Given the description of an element on the screen output the (x, y) to click on. 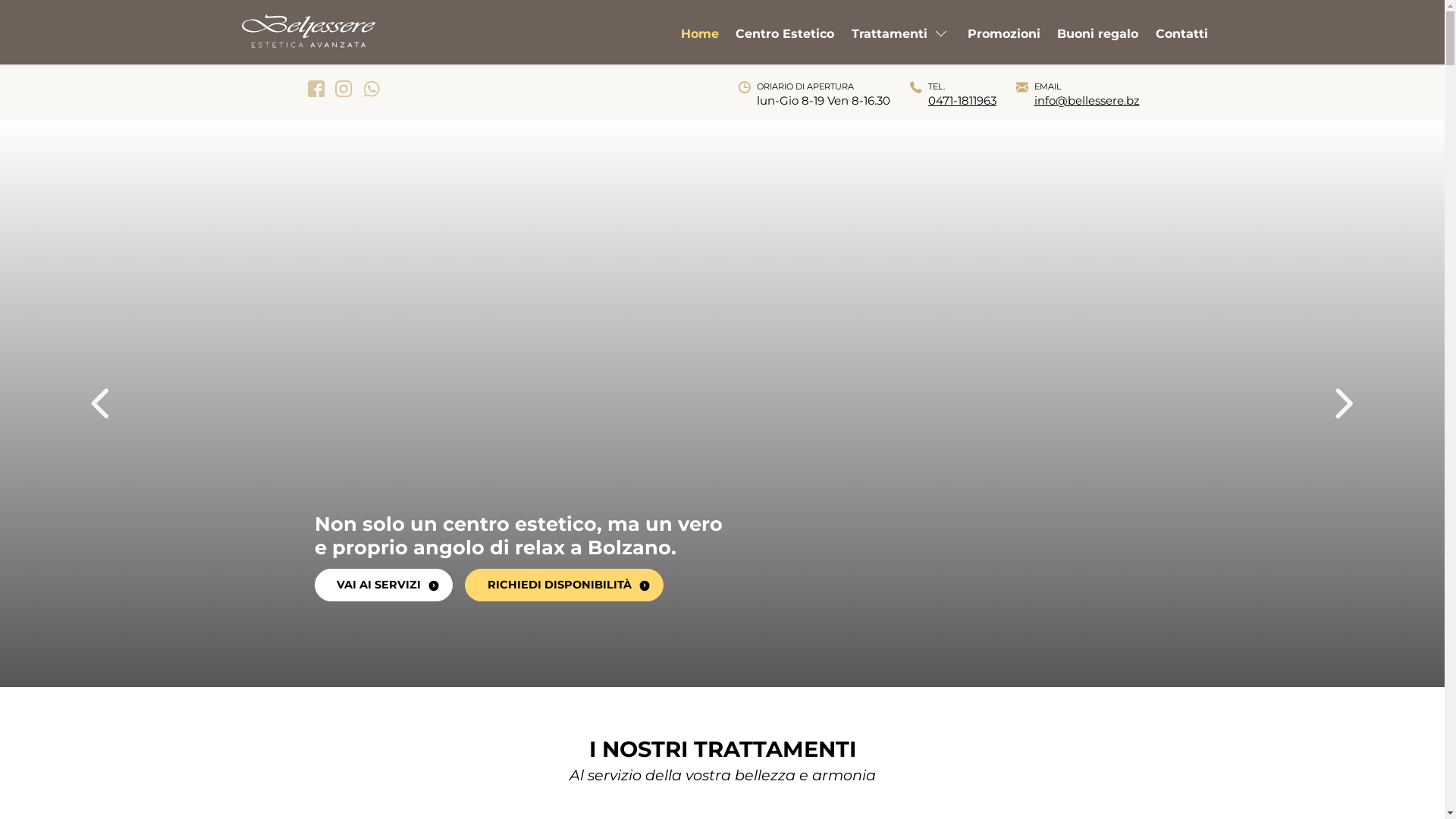
Promozioni Element type: text (1003, 38)
Contatti Element type: text (1181, 38)
Centro Estetico Element type: text (784, 38)
Seguici su Instagram Element type: hover (343, 89)
0471-1811963 Element type: text (962, 100)
Seguici su Facebook Element type: hover (315, 89)
info@bellessere.bz Element type: text (1086, 100)
WhatsApp Element type: hover (371, 89)
Home Element type: text (699, 38)
Buoni regalo Element type: text (1097, 38)
Trattamenti Element type: text (900, 38)
VAI AI SERVIZI Element type: text (382, 584)
